Given the description of an element on the screen output the (x, y) to click on. 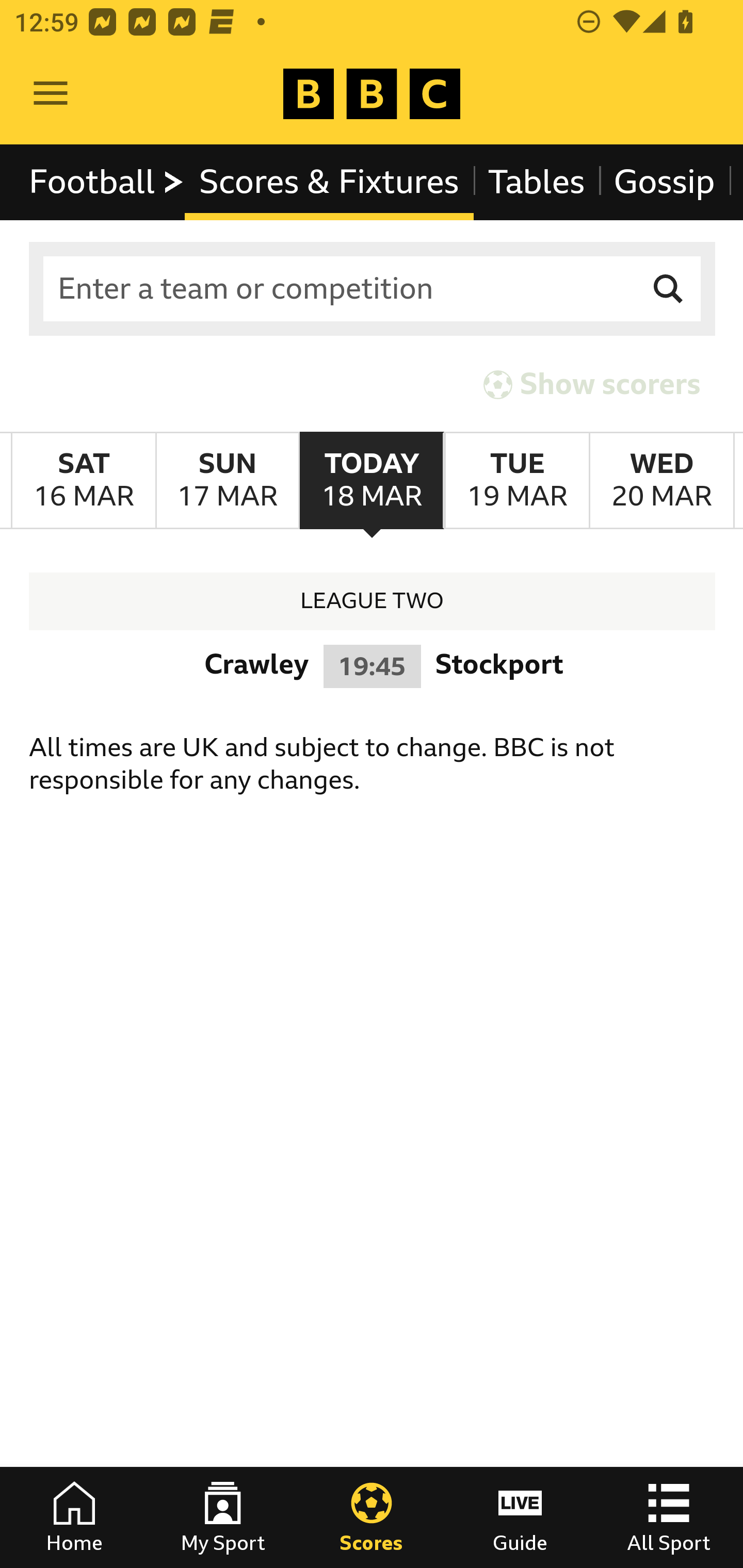
Open Menu (50, 93)
Football  (106, 181)
Scores & Fixtures (329, 181)
Tables (536, 181)
Gossip (664, 181)
Search (669, 289)
Show scorers (591, 383)
SaturdayMarch 16th Saturday March 16th (83, 480)
SundayMarch 17th Sunday March 17th (227, 480)
TuesdayMarch 19th Tuesday March 19th (516, 480)
WednesdayMarch 20th Wednesday March 20th (661, 480)
Home (74, 1517)
My Sport (222, 1517)
Guide (519, 1517)
All Sport (668, 1517)
